Given the description of an element on the screen output the (x, y) to click on. 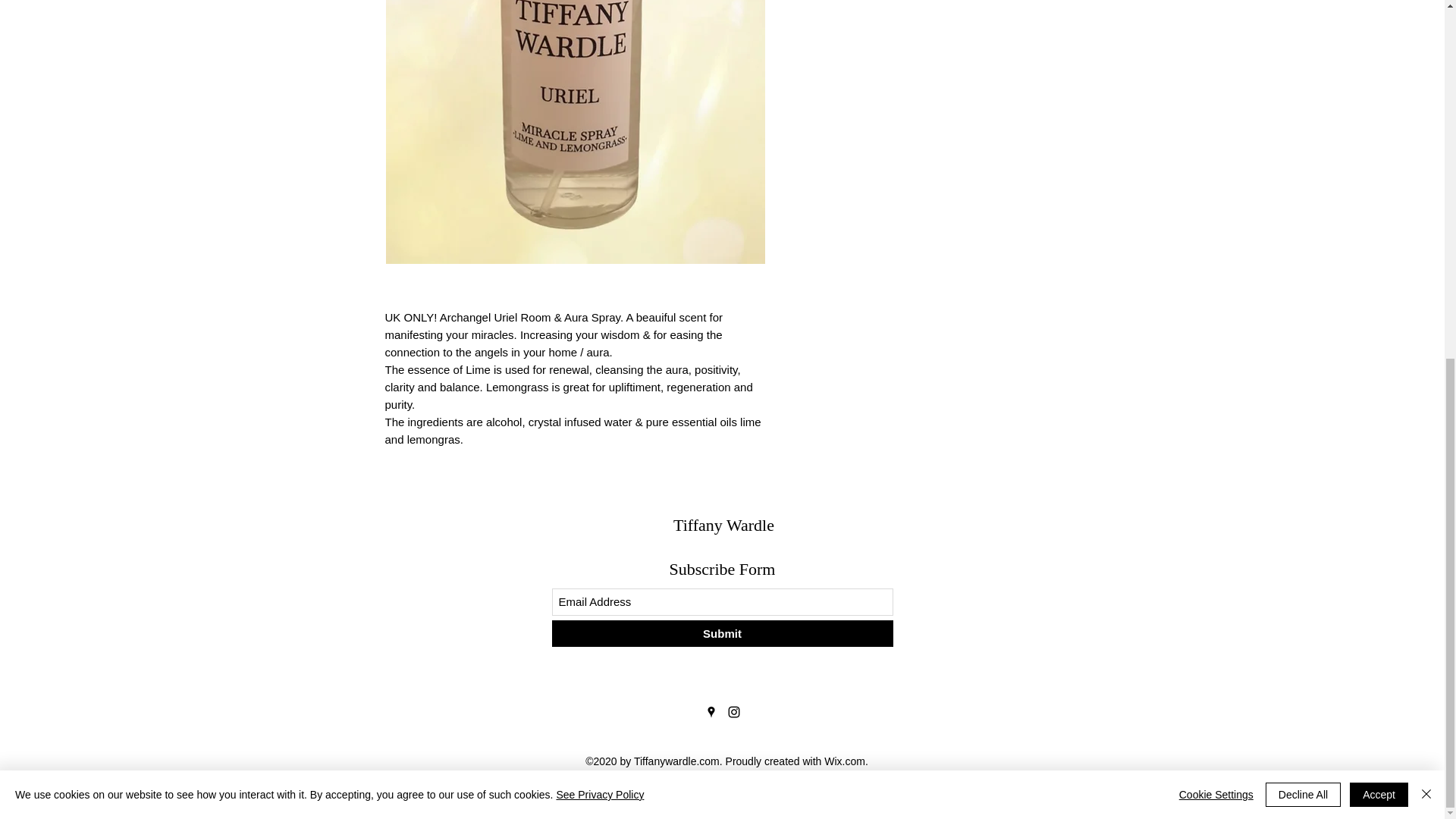
Decline All (1302, 161)
See Privacy Policy (599, 162)
Tiffany Wardle (723, 524)
Accept (1378, 161)
Submit (722, 633)
